Given the description of an element on the screen output the (x, y) to click on. 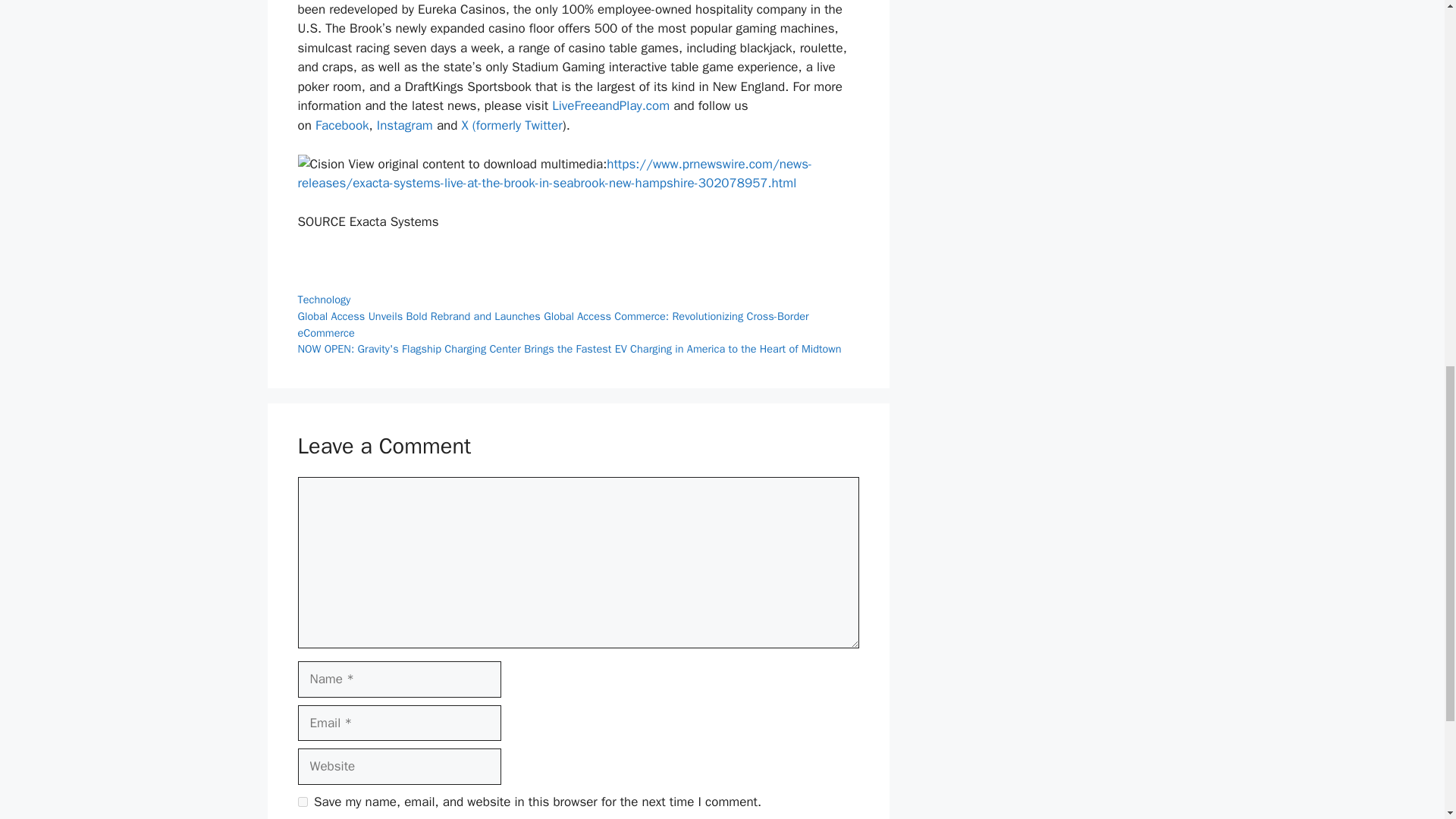
Technology (323, 299)
LiveFreeandPlay.com (610, 105)
 Instagram (402, 125)
Cision (320, 164)
yes (302, 801)
 Facebook (340, 125)
